Given the description of an element on the screen output the (x, y) to click on. 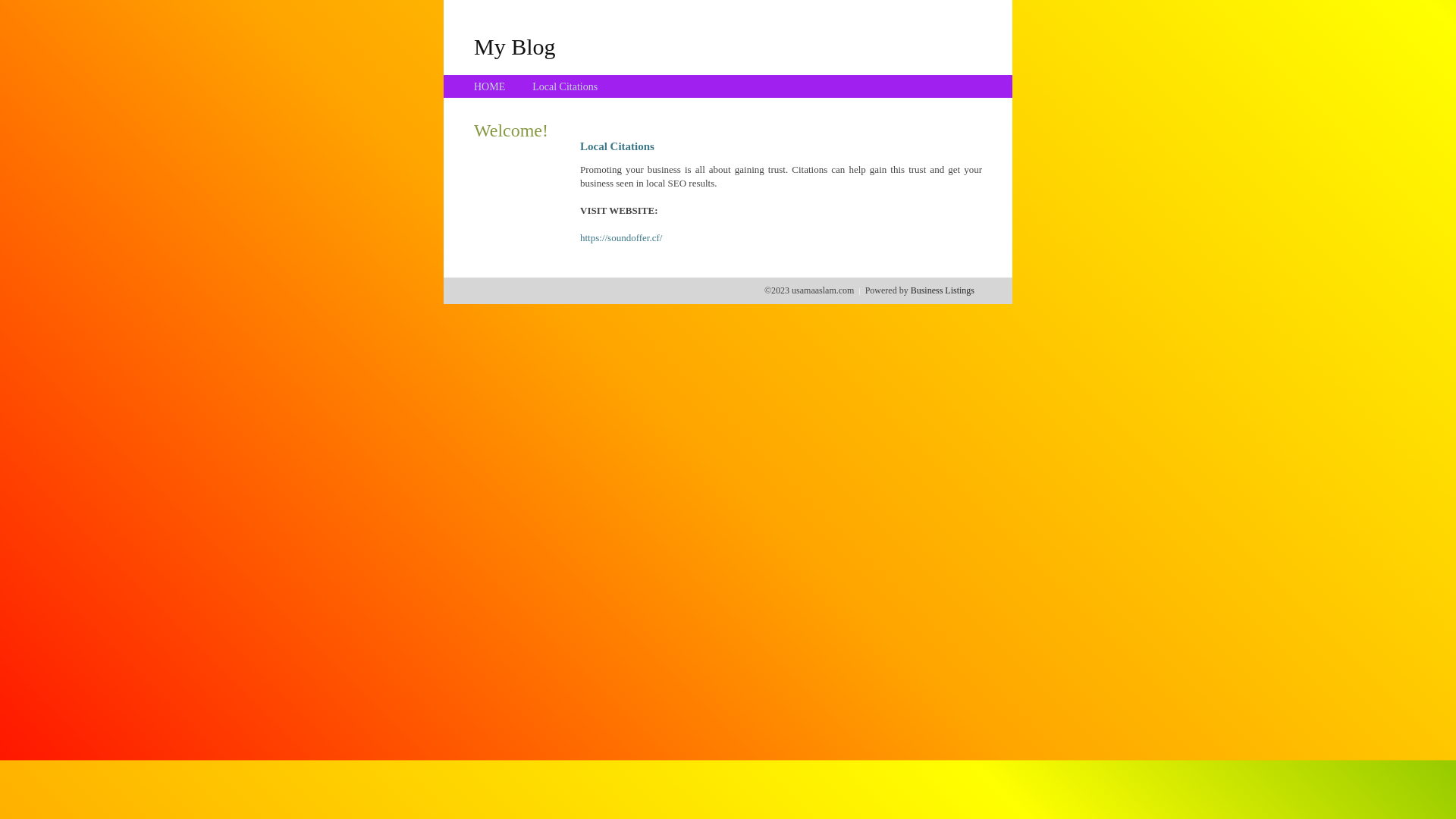
My Blog Element type: text (514, 46)
https://soundoffer.cf/ Element type: text (621, 237)
Local Citations Element type: text (564, 86)
Business Listings Element type: text (942, 290)
HOME Element type: text (489, 86)
